Given the description of an element on the screen output the (x, y) to click on. 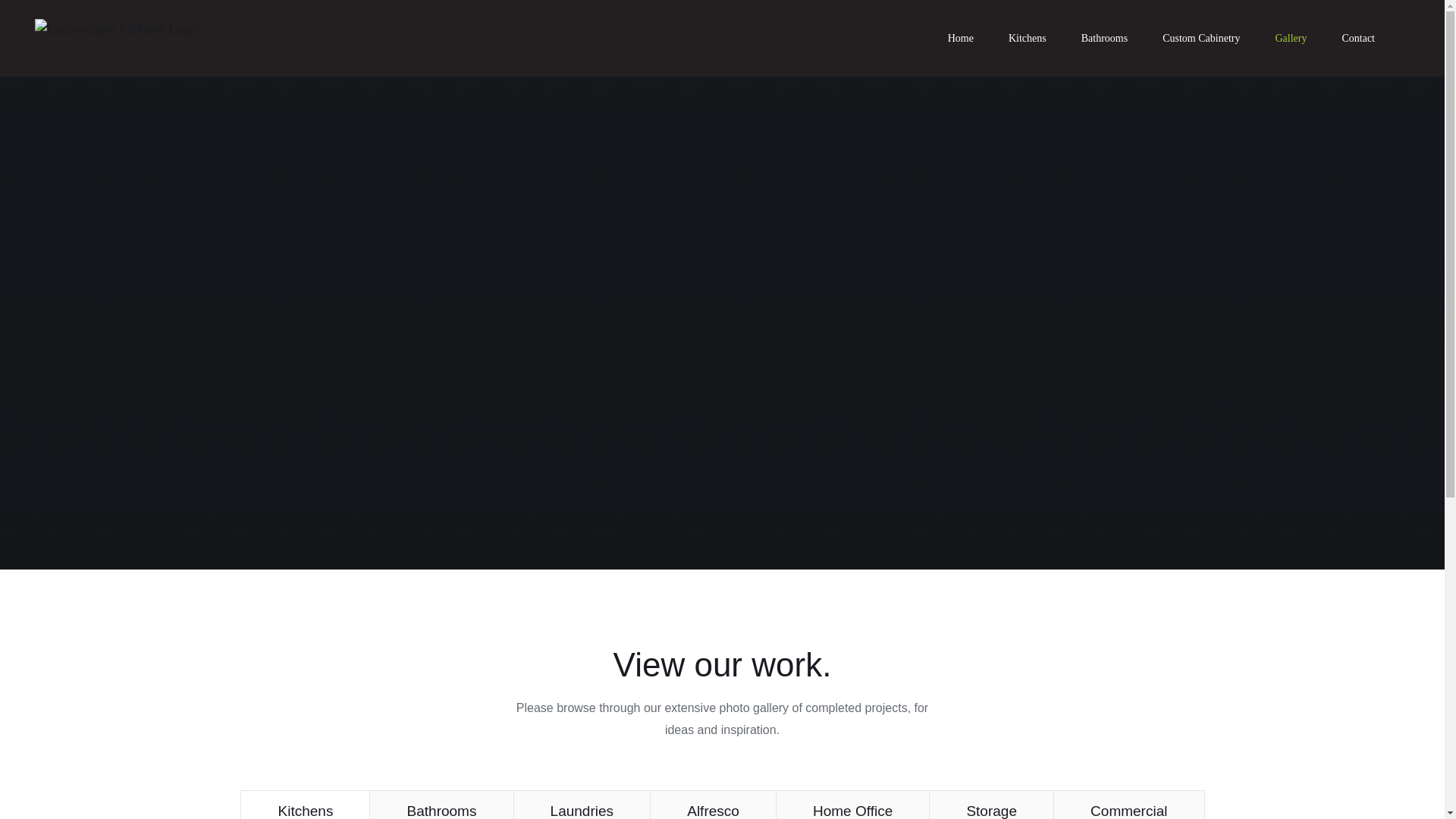
Custom Cabinetry Element type: text (1200, 38)
Gallery Element type: text (1290, 38)
Home Element type: text (960, 38)
Contact Element type: text (1357, 38)
Bathrooms Element type: text (1104, 38)
Kitchens Element type: text (1027, 38)
